Given the description of an element on the screen output the (x, y) to click on. 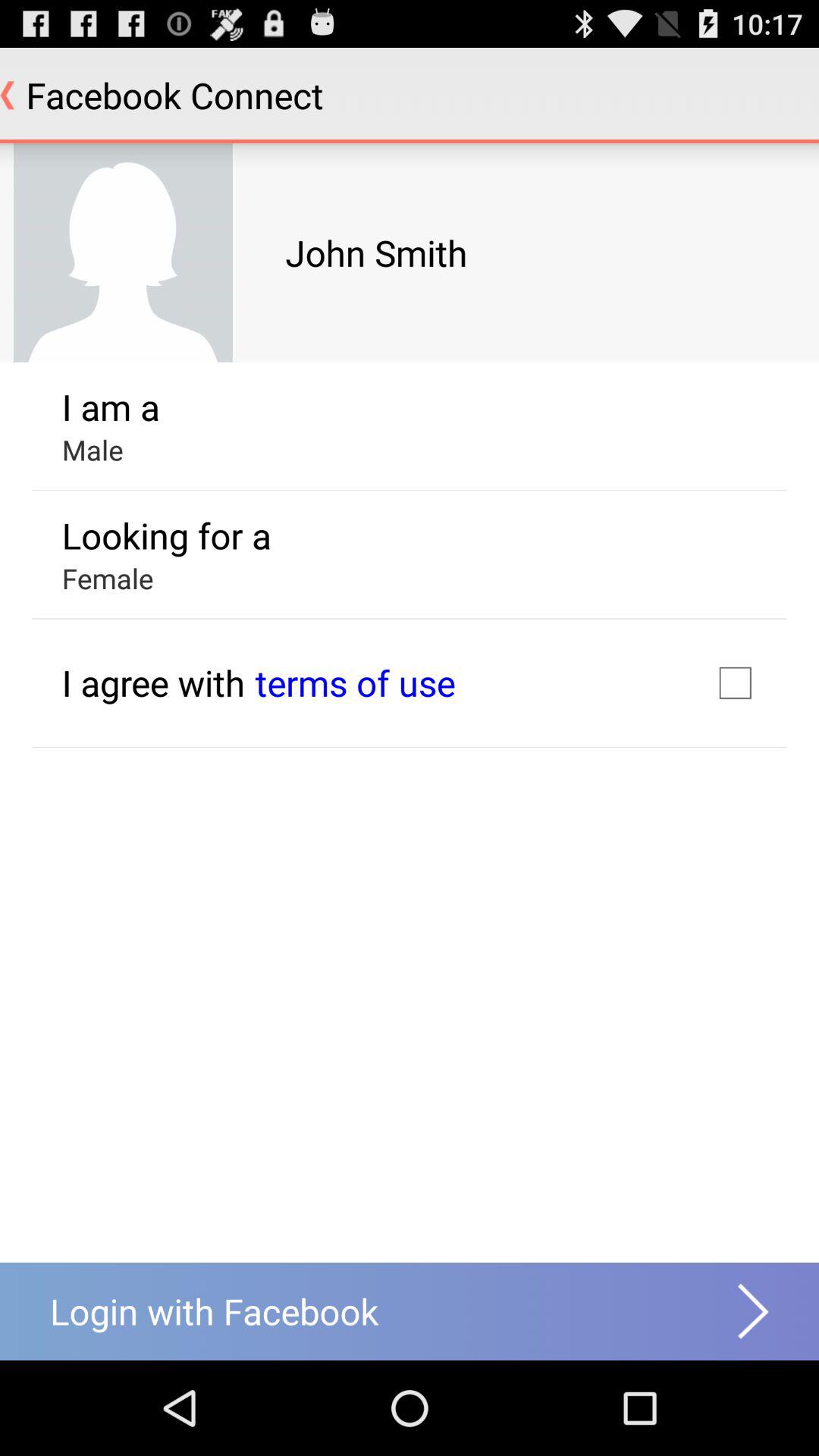
tap the icon above the male item (110, 406)
